Given the description of an element on the screen output the (x, y) to click on. 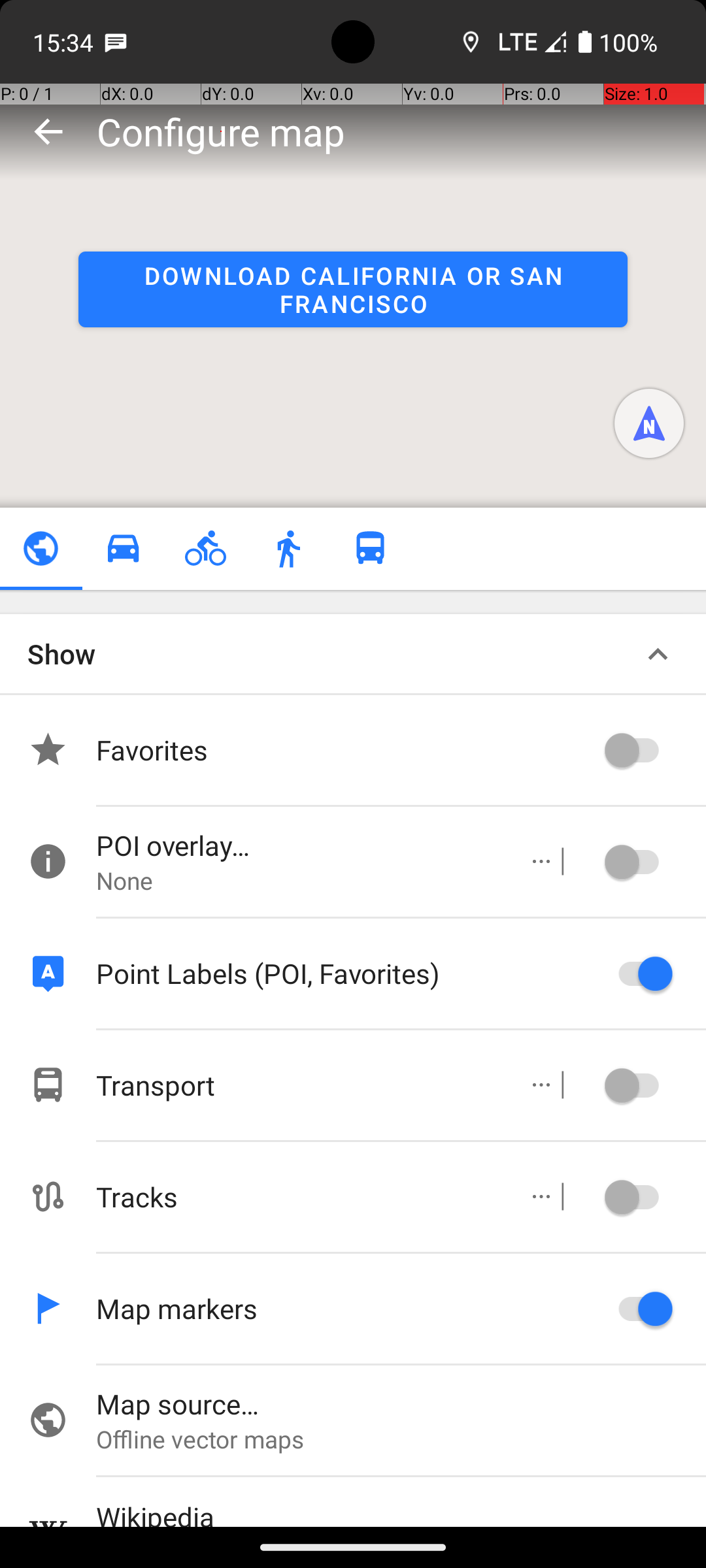
Back to map Element type: android.widget.ImageButton (48, 131)
Movement direction Element type: android.widget.ImageButton (649, 423)
DOWNLOAD CALIFORNIA OR SAN FRANCISCO Element type: android.widget.Button (352, 289)
Browse map checked Element type: android.widget.ImageView (40, 548)
Driving unchecked Element type: android.widget.ImageView (122, 548)
Cycling unchecked Element type: android.widget.ImageView (205, 548)
Show Element type: android.widget.TextView (61, 653)
POI overlay… Element type: android.widget.TextView (298, 844)
Point Labels (POI, Favorites) Element type: android.widget.TextView (346, 972)
Transport Element type: android.widget.TextView (298, 1084)
Map markers Element type: android.widget.TextView (346, 1307)
Map source… Element type: android.widget.TextView (401, 1403)
Offline vector maps Element type: android.widget.TextView (401, 1438)
